Given the description of an element on the screen output the (x, y) to click on. 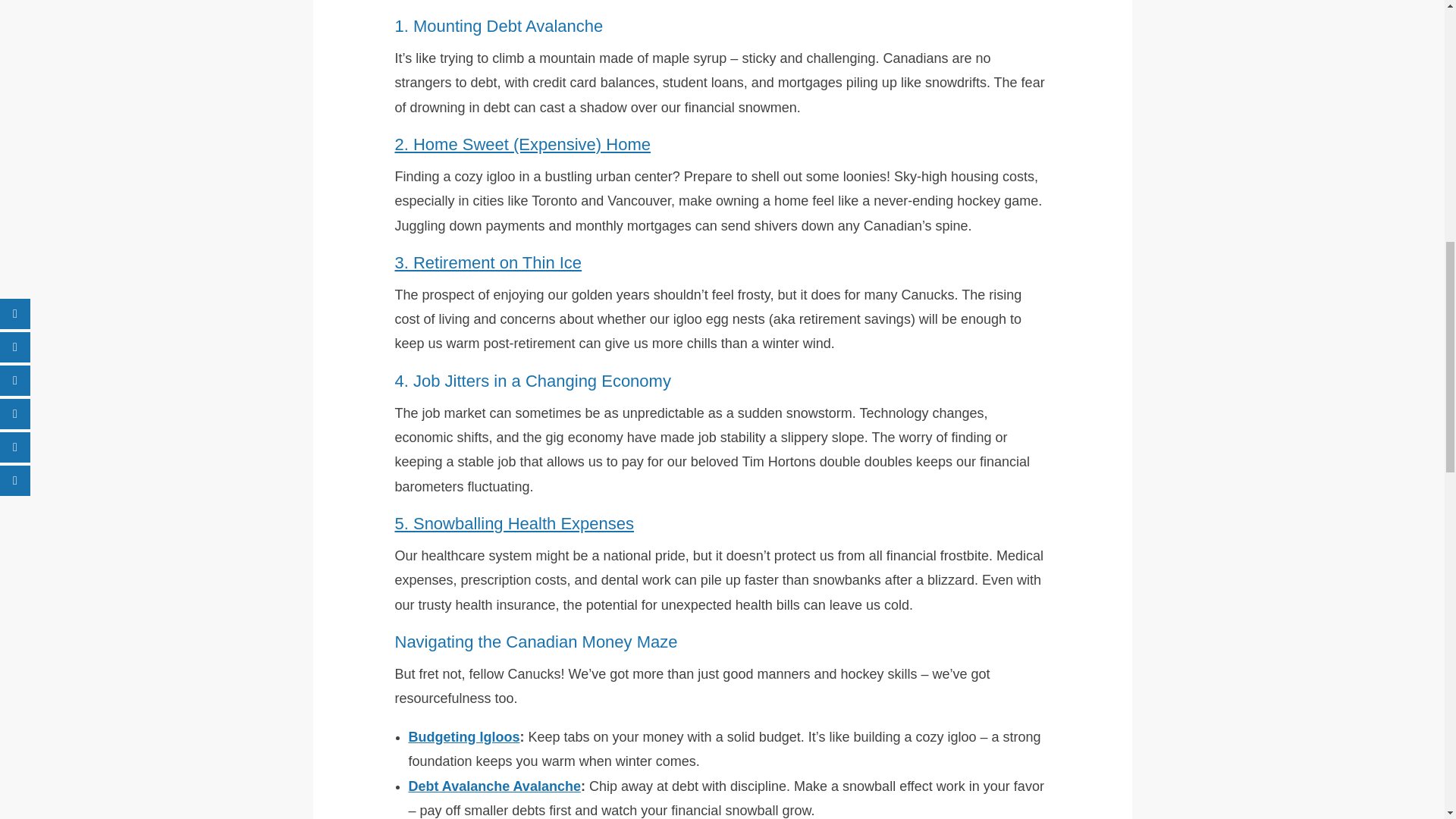
3. Retirement on Thin Ice (487, 262)
5. Snowballing Health Expenses (513, 523)
Budgeting Igloos (463, 736)
Debt Avalanche Avalanche (493, 785)
